Given the description of an element on the screen output the (x, y) to click on. 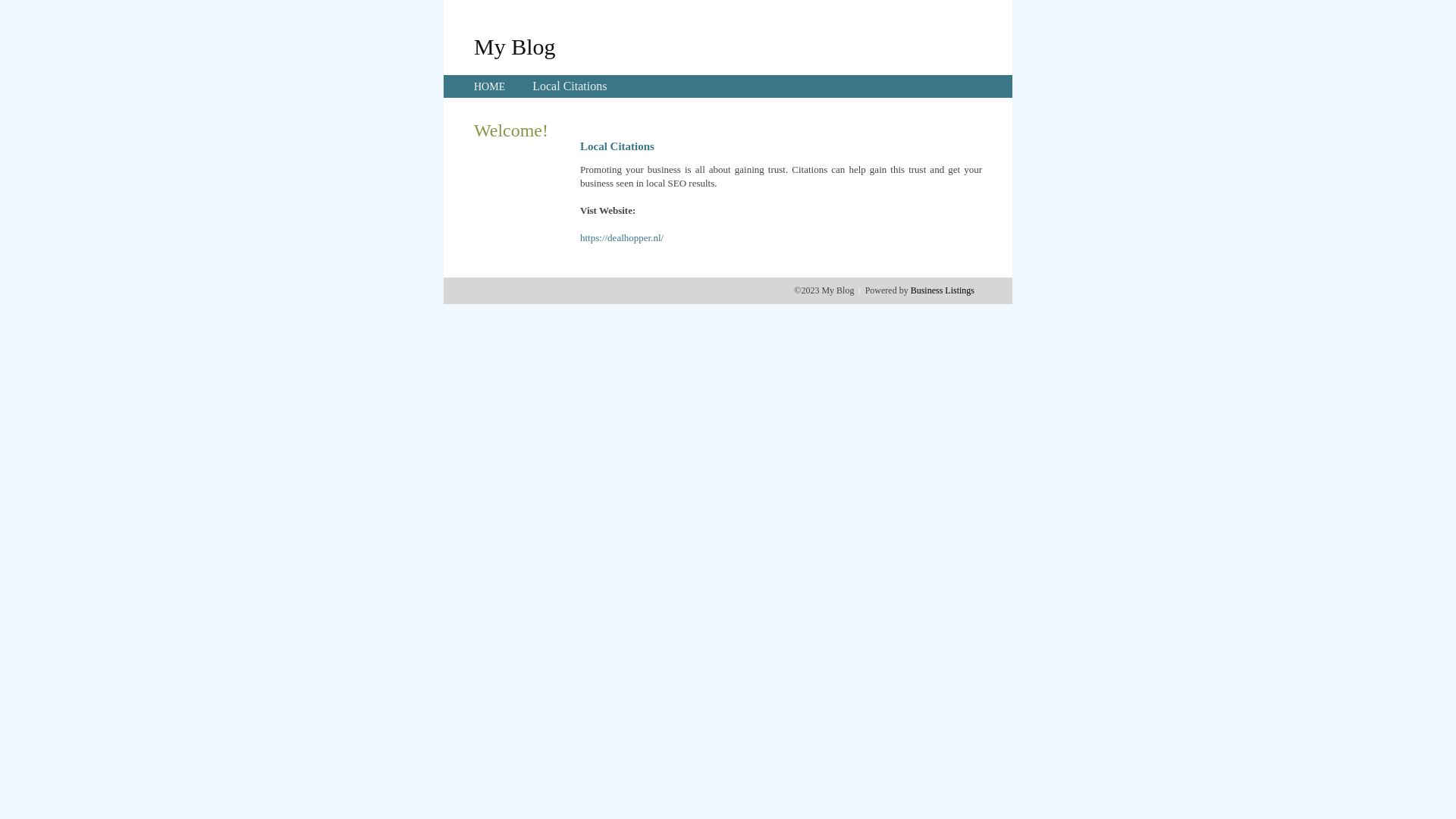
HOME Element type: text (489, 86)
Local Citations Element type: text (569, 85)
Business Listings Element type: text (942, 290)
My Blog Element type: text (514, 46)
https://dealhopper.nl/ Element type: text (621, 237)
